Given the description of an element on the screen output the (x, y) to click on. 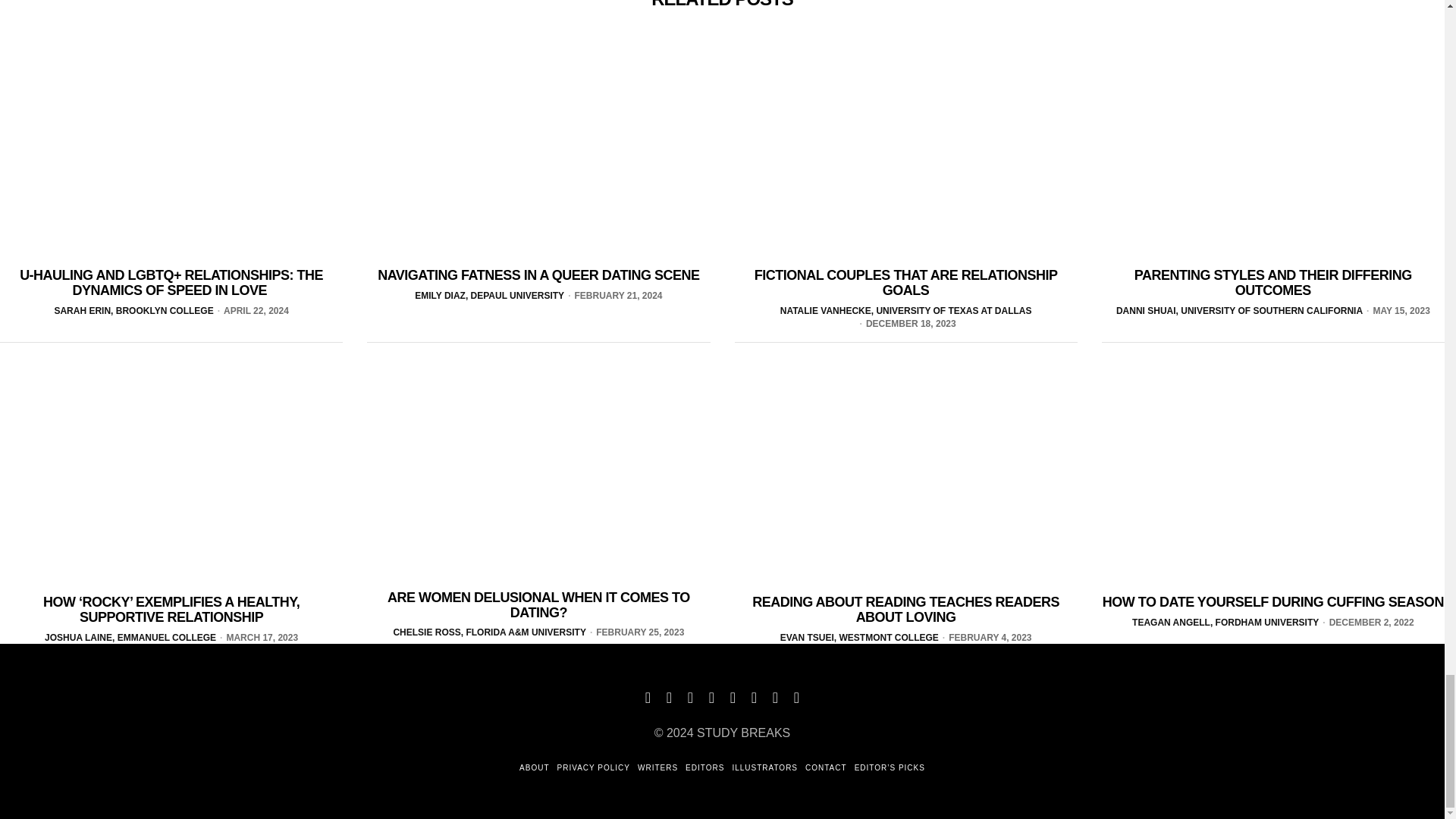
15 May, 2023 08:02:00 (1395, 310)
17 Mar, 2023 08:16:00 (256, 636)
21 Feb, 2024 13:29:30 (613, 295)
25 Feb, 2023 08:16:00 (635, 632)
04 Feb, 2023 08:34:00 (985, 636)
22 Apr, 2024 11:24:44 (251, 310)
02 Dec, 2022 08:47:00 (1366, 622)
18 Dec, 2023 18:32:00 (906, 323)
